Given the description of an element on the screen output the (x, y) to click on. 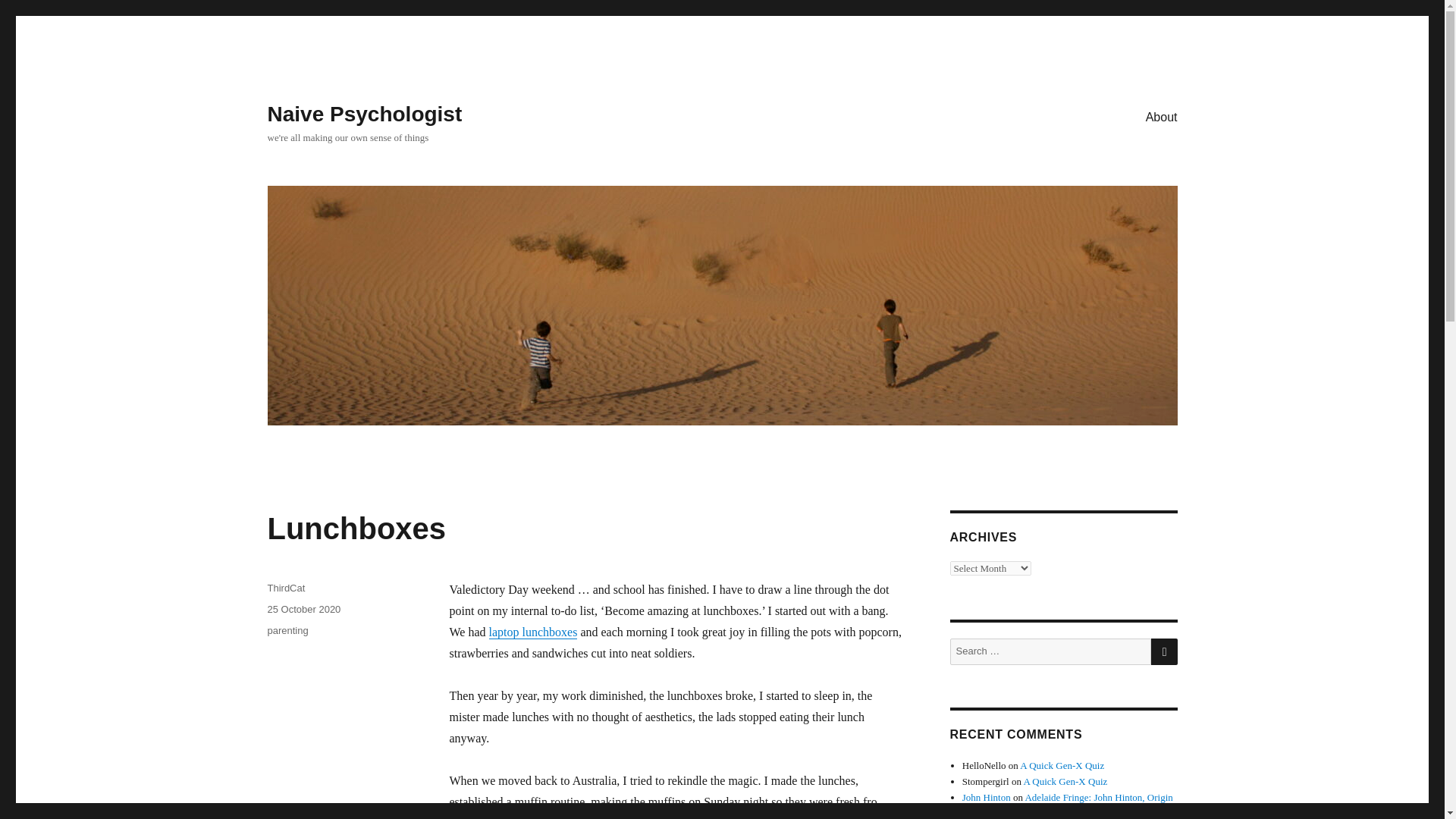
Naive Psychologist (363, 114)
25 October 2020 (303, 609)
A Quick Gen-X Quiz (1061, 765)
About (1161, 116)
John Hinton (986, 797)
parenting (286, 630)
Adelaide Fringe: John Hinton, Origin of Species (1067, 805)
laptop lunchboxes (533, 631)
A Quick Gen-X Quiz (1064, 781)
SEARCH (1164, 651)
ThirdCat (285, 587)
